Given the description of an element on the screen output the (x, y) to click on. 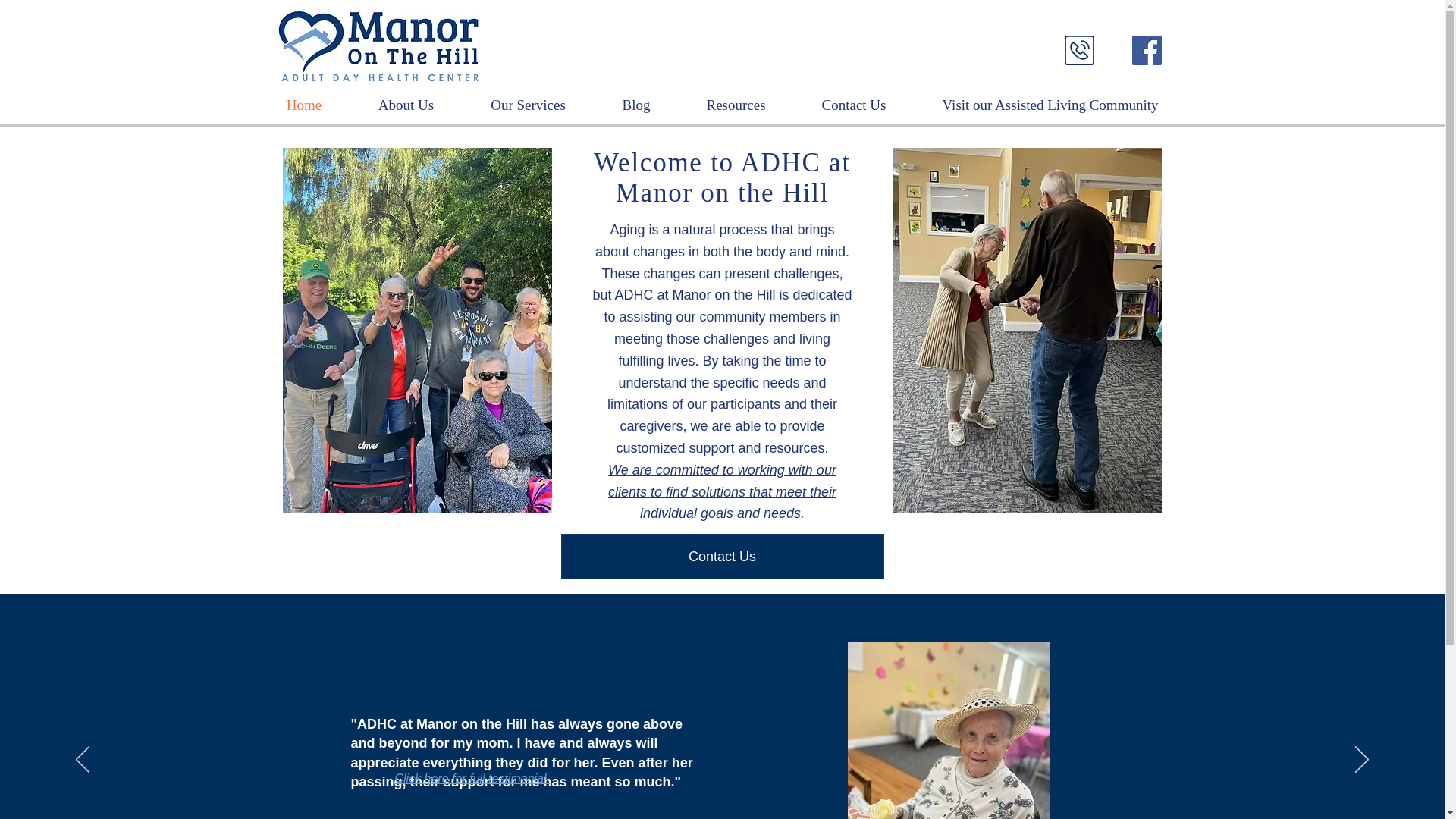
About Us (406, 105)
Click here for full testimonial  (472, 778)
Our Services (528, 105)
Contact Us (721, 556)
Resources (735, 105)
Contact Us (853, 105)
Blog (636, 105)
Visit our Assisted Living Community (1050, 105)
Home (303, 105)
